Given the description of an element on the screen output the (x, y) to click on. 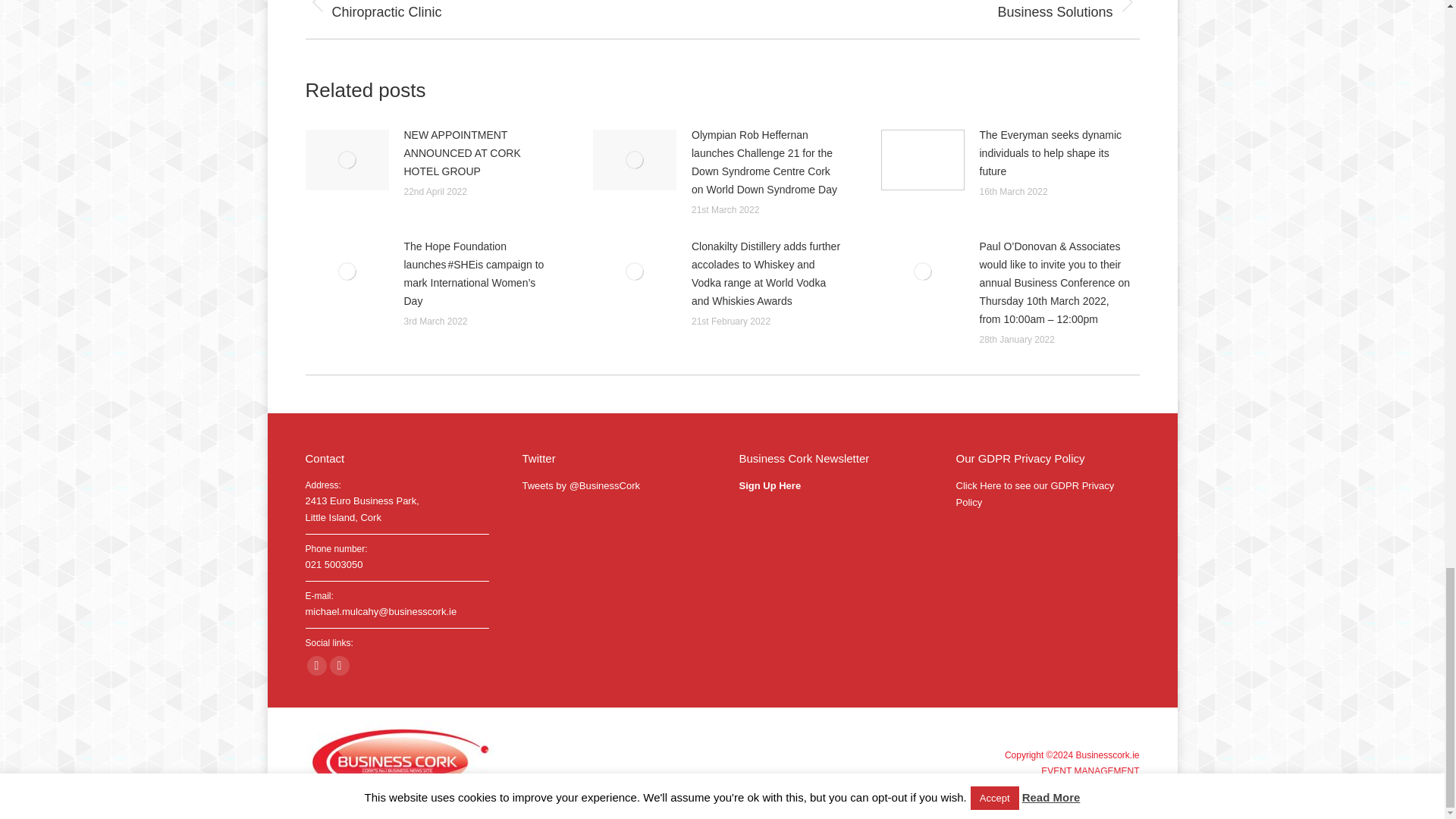
Facebook page opens in new window (315, 665)
X page opens in new window (339, 665)
